Given the description of an element on the screen output the (x, y) to click on. 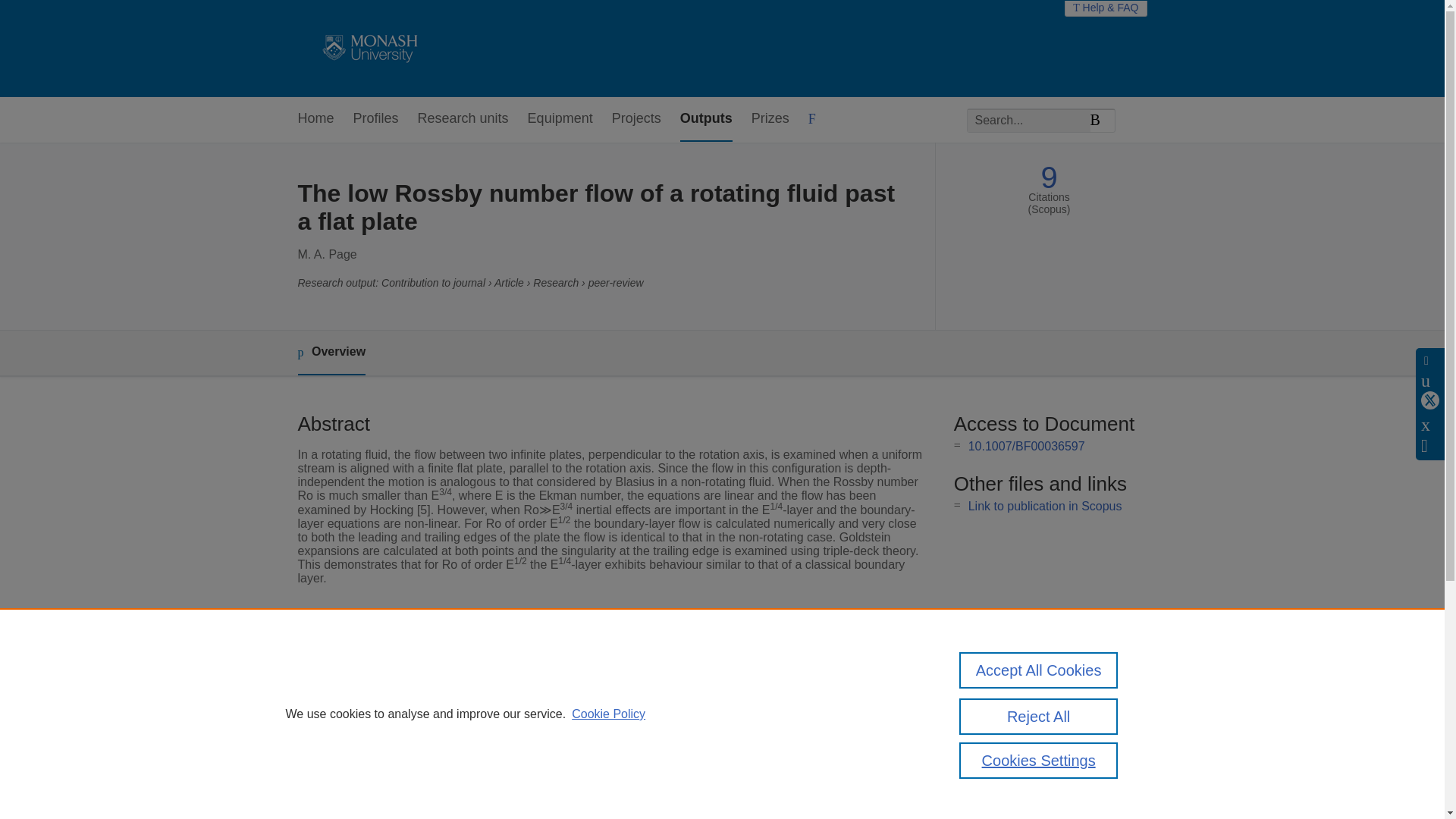
Projects (636, 119)
Outputs (705, 119)
Cookies Settings (1038, 760)
Journal of Engineering Mathematics (604, 668)
Research units (462, 119)
Overview (331, 352)
Reject All (1038, 716)
Cookie Policy (608, 713)
Monash University Home (366, 48)
